Given the description of an element on the screen output the (x, y) to click on. 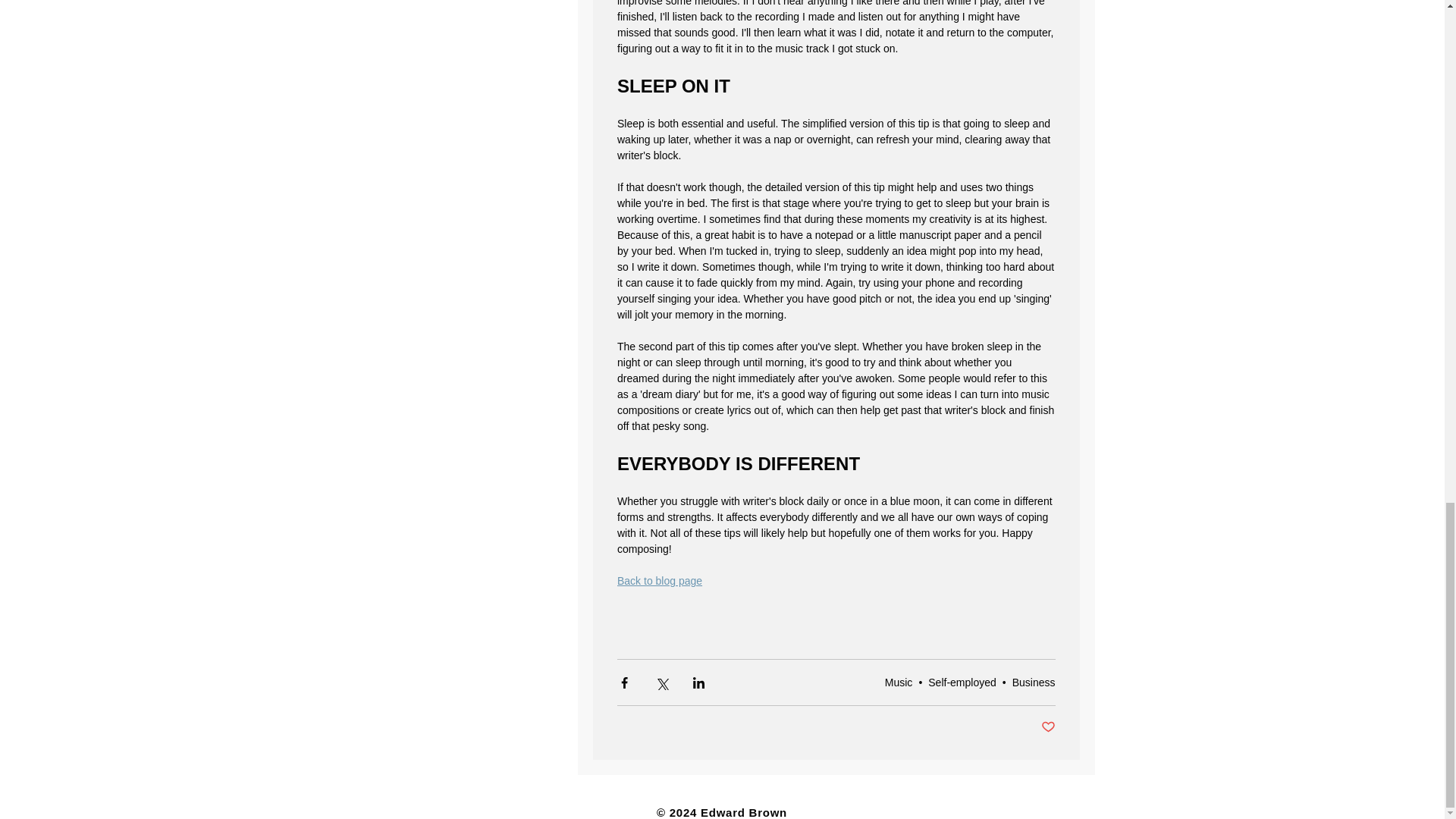
Back to blog page (659, 580)
Post not marked as liked (1047, 727)
Music (898, 682)
Self-employed (961, 682)
Business (1033, 682)
